Given the description of an element on the screen output the (x, y) to click on. 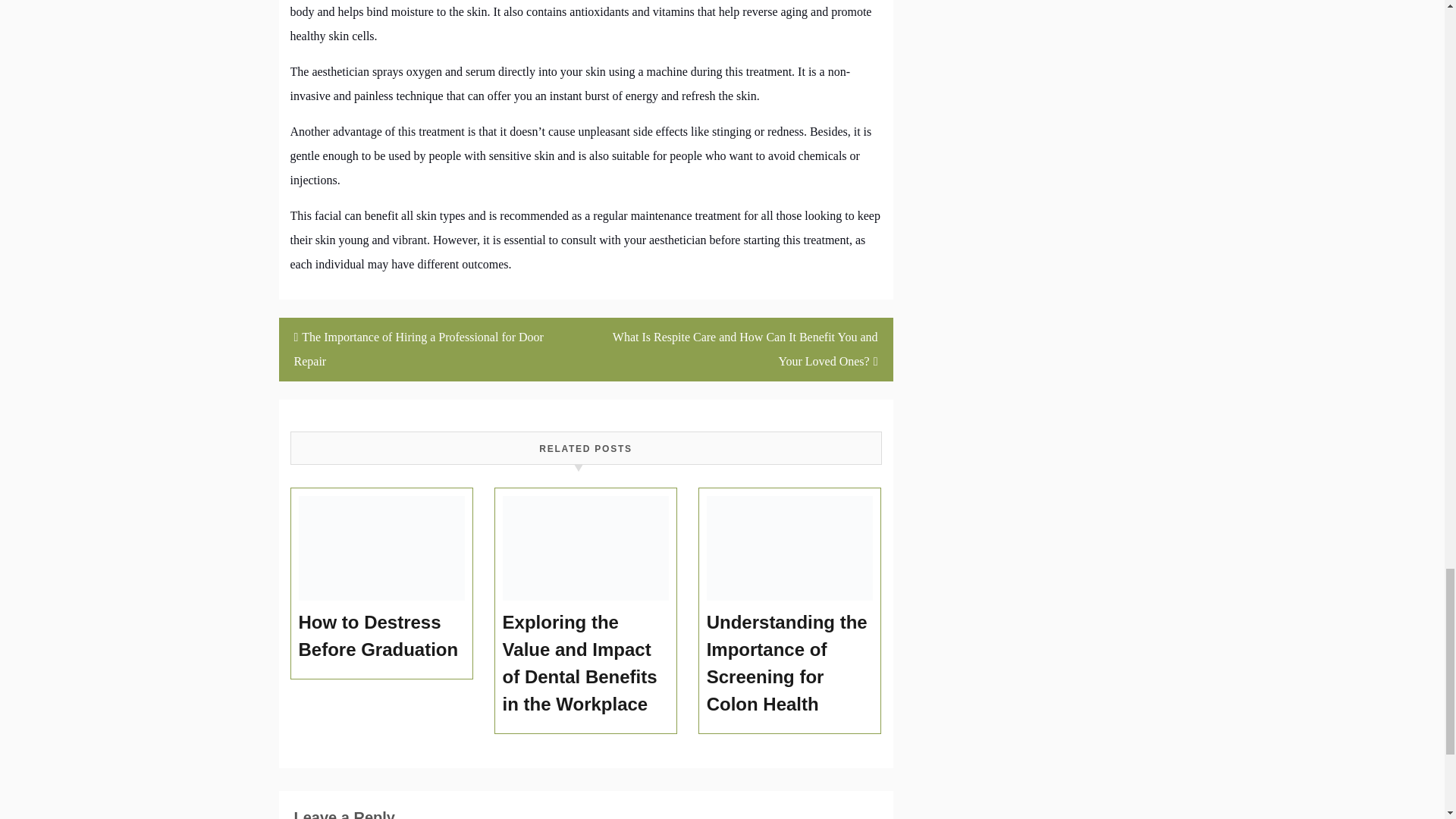
How to Destress Before Graduation (381, 636)
The Importance of Hiring a Professional for Door Repair (432, 349)
Understanding the Importance of Screening for Colon Health (789, 663)
